Given the description of an element on the screen output the (x, y) to click on. 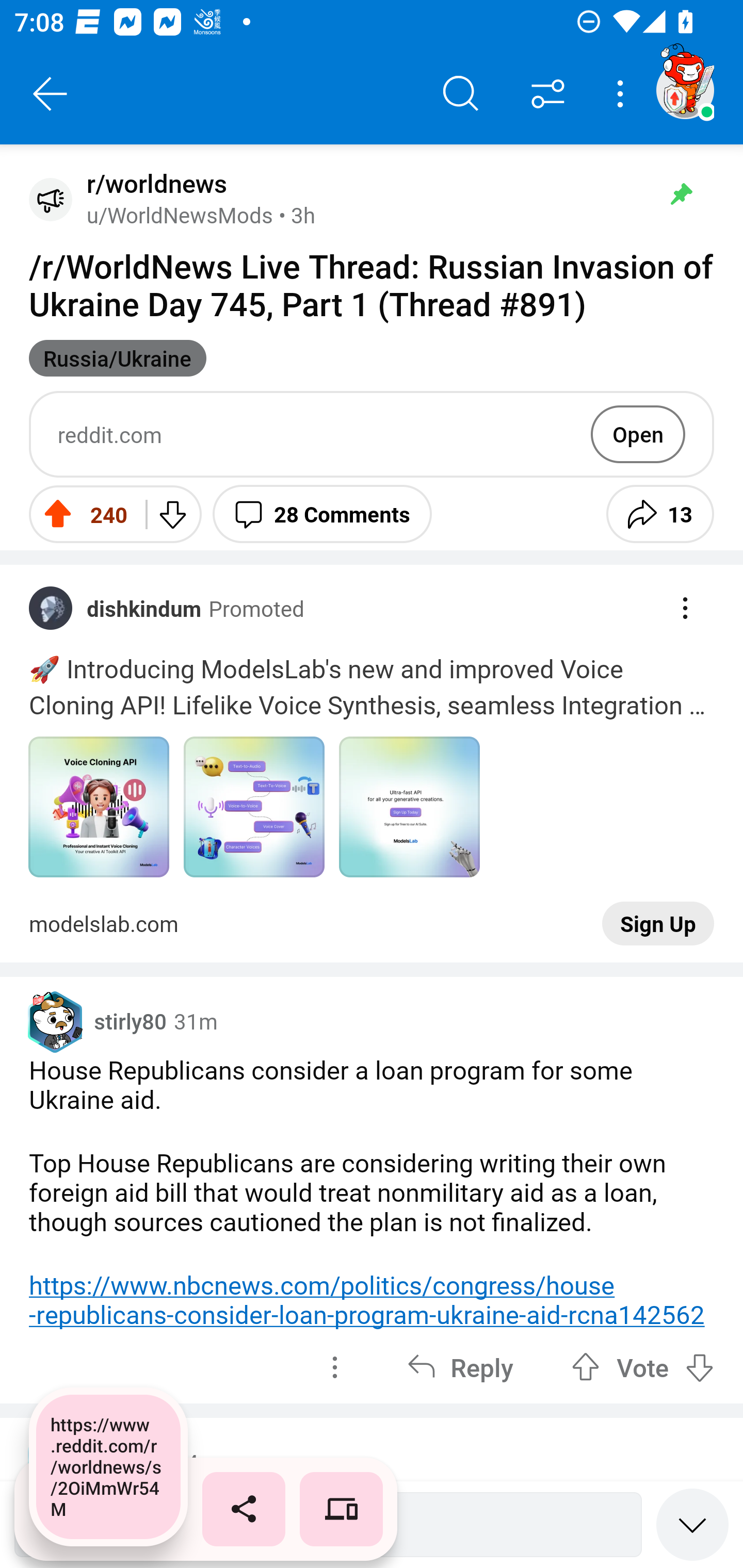
Back (50, 93)
TestAppium002 account (685, 90)
Search comments (460, 93)
Sort comments (547, 93)
More options (623, 93)
r/worldnews (153, 183)
Avatar (50, 199)
Pinned (681, 194)
Russia/Ukraine (117, 358)
reddit.com Open (371, 434)
Open (637, 434)
Downvote (171, 514)
28 Comments (321, 514)
Share 13 (660, 514)
Image 2 of 3.  (253, 807)
Image 3 of 3.  (408, 807)
options (334, 1367)
Reply (460, 1367)
Upvote Vote Downvote (642, 1367)
Speed read (692, 1524)
